Given the description of an element on the screen output the (x, y) to click on. 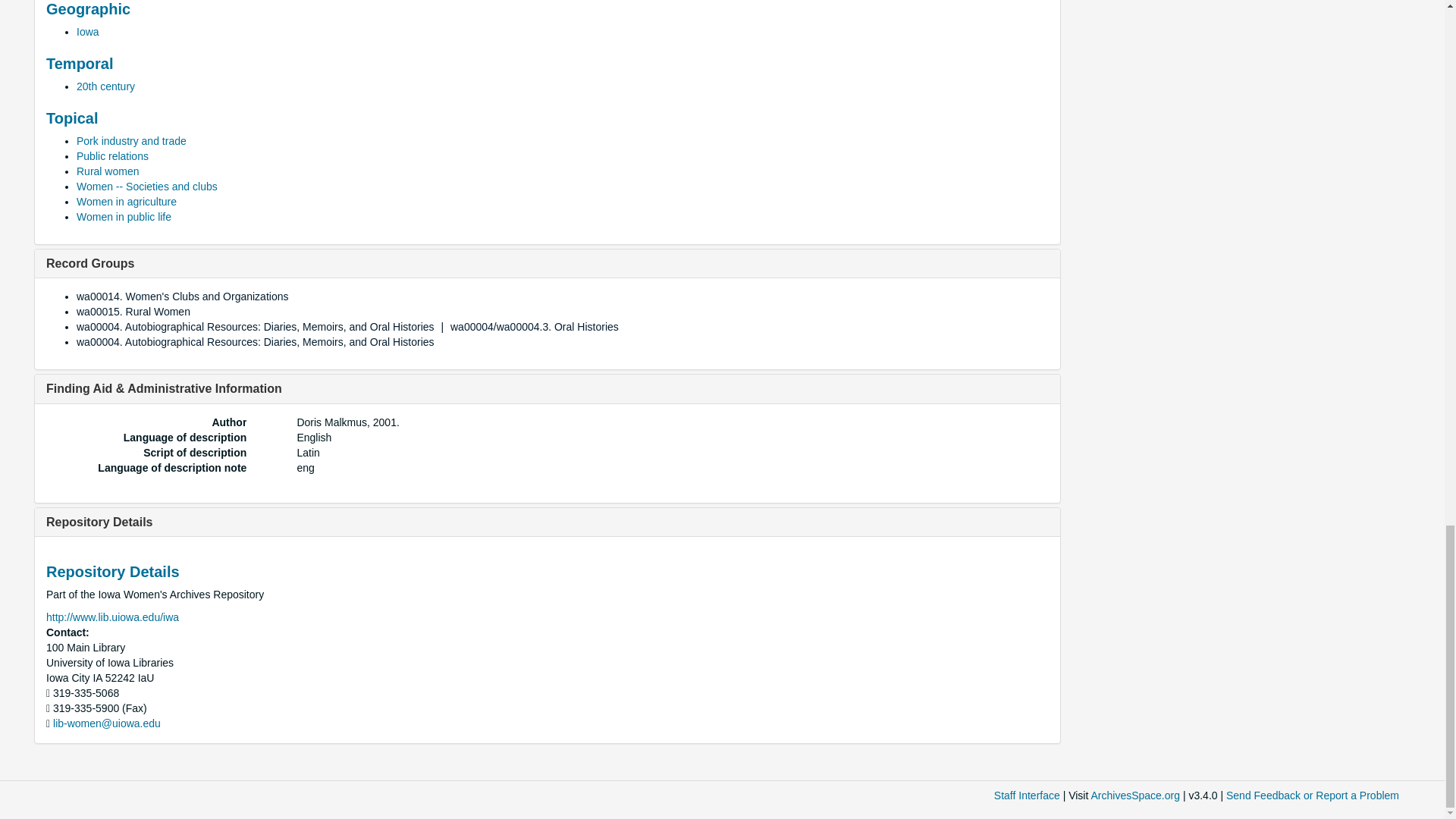
Iowa (88, 31)
20th century (106, 86)
Pork industry and trade (131, 141)
Send email (106, 723)
